Given the description of an element on the screen output the (x, y) to click on. 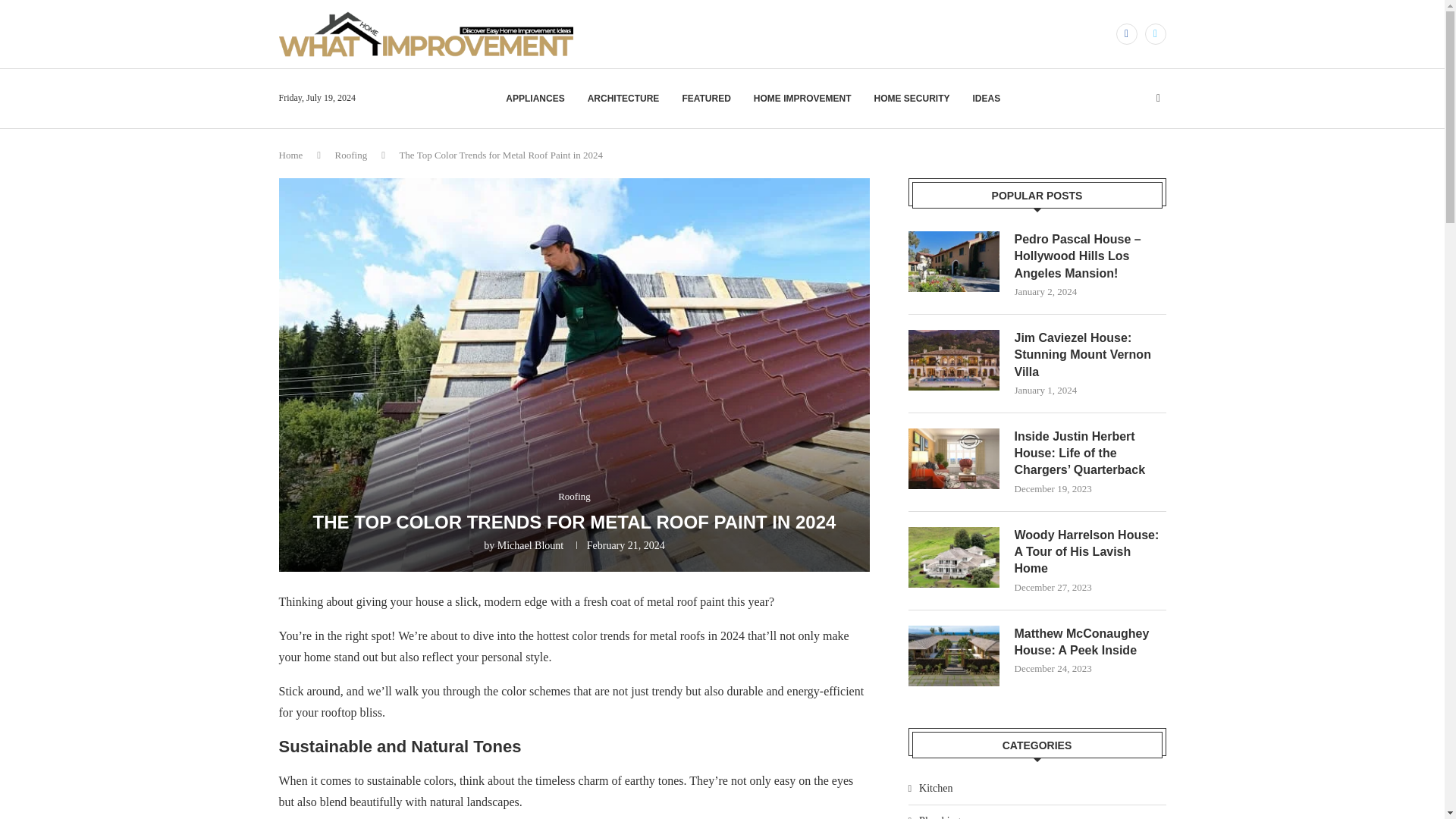
HOME SECURITY (911, 98)
APPLIANCES (534, 98)
HOME IMPROVEMENT (802, 98)
ARCHITECTURE (623, 98)
FEATURED (705, 98)
Roofing (351, 154)
Home (290, 154)
